Given the description of an element on the screen output the (x, y) to click on. 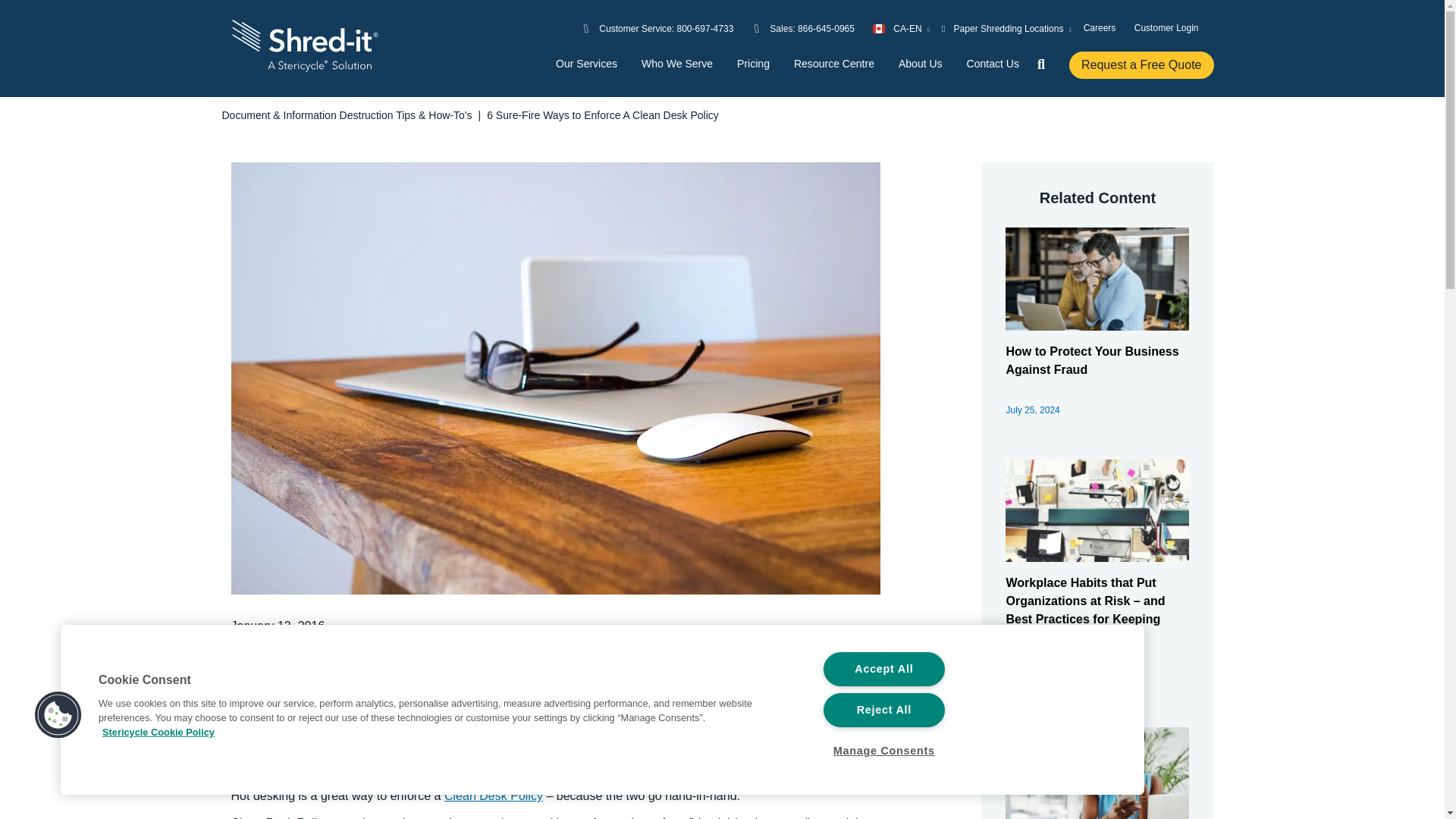
Who We Serve (677, 63)
Customer Service: 800-697-4733 (665, 28)
CA-EN (901, 28)
Sales: 866-645-0965 (812, 28)
Customer Login (1166, 27)
Paper Shredding Locations (1006, 28)
Careers (1099, 27)
Cookies Button (57, 715)
Our Services (586, 63)
